Given the description of an element on the screen output the (x, y) to click on. 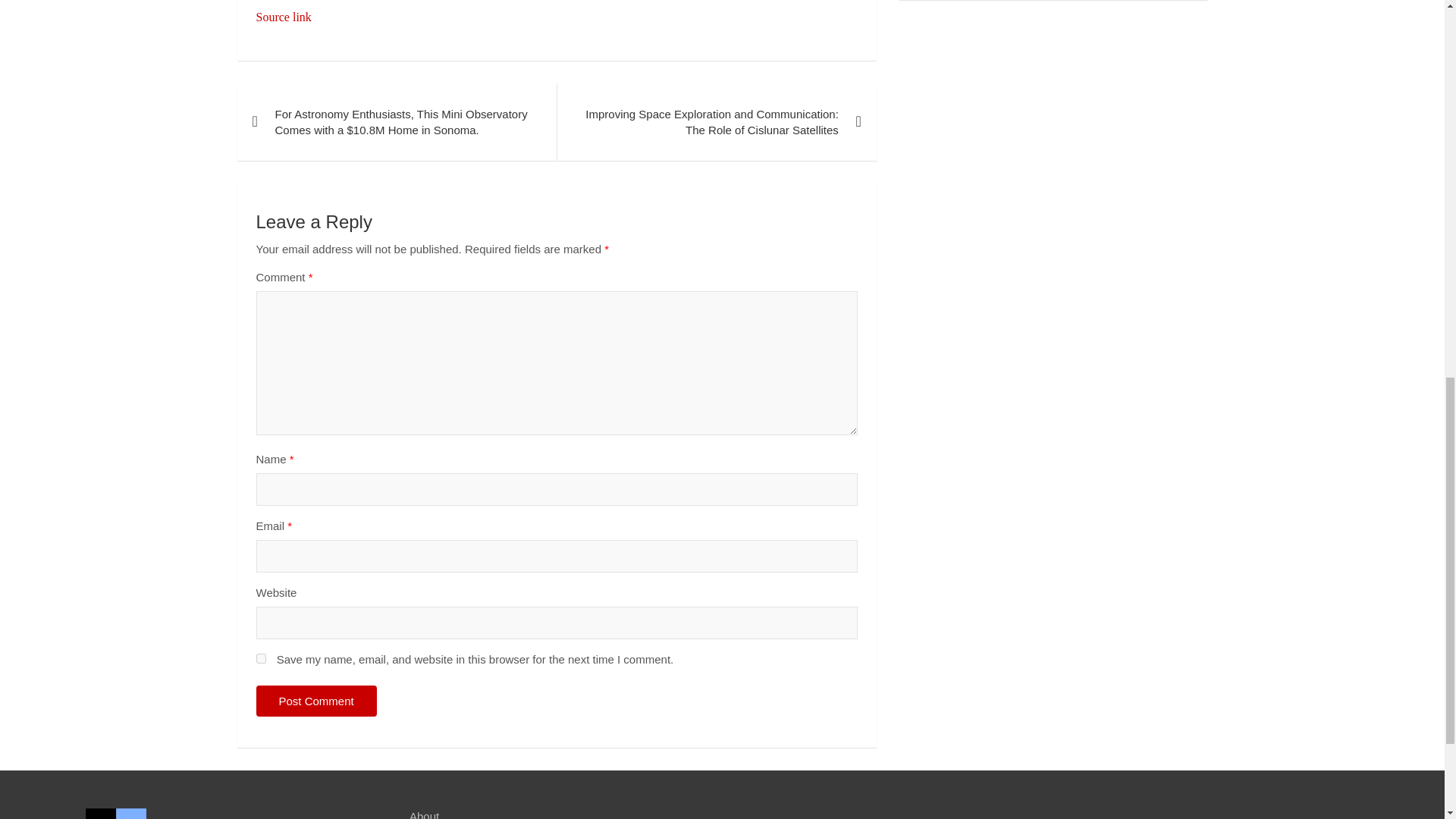
Source link (283, 16)
Post Comment (316, 700)
Post Comment (316, 700)
yes (261, 658)
